Given the description of an element on the screen output the (x, y) to click on. 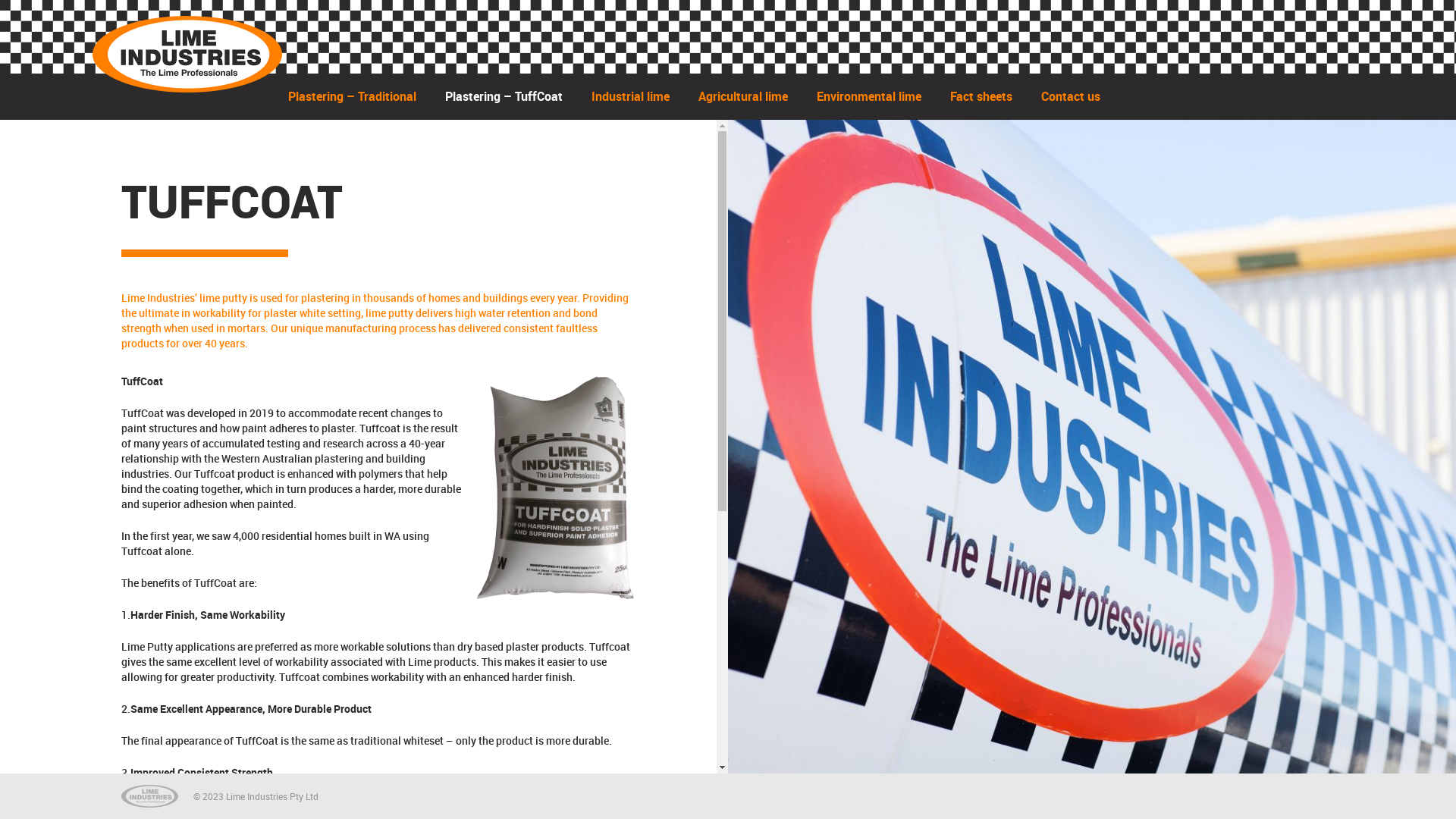
Agricultural lime Element type: text (742, 96)
Industrial lime Element type: text (630, 96)
Environmental lime Element type: text (868, 96)
Contact us Element type: text (1070, 96)
Fact sheets Element type: text (981, 96)
Lime Industries Element type: hover (149, 795)
Lime Industries Element type: hover (187, 53)
